Given the description of an element on the screen output the (x, y) to click on. 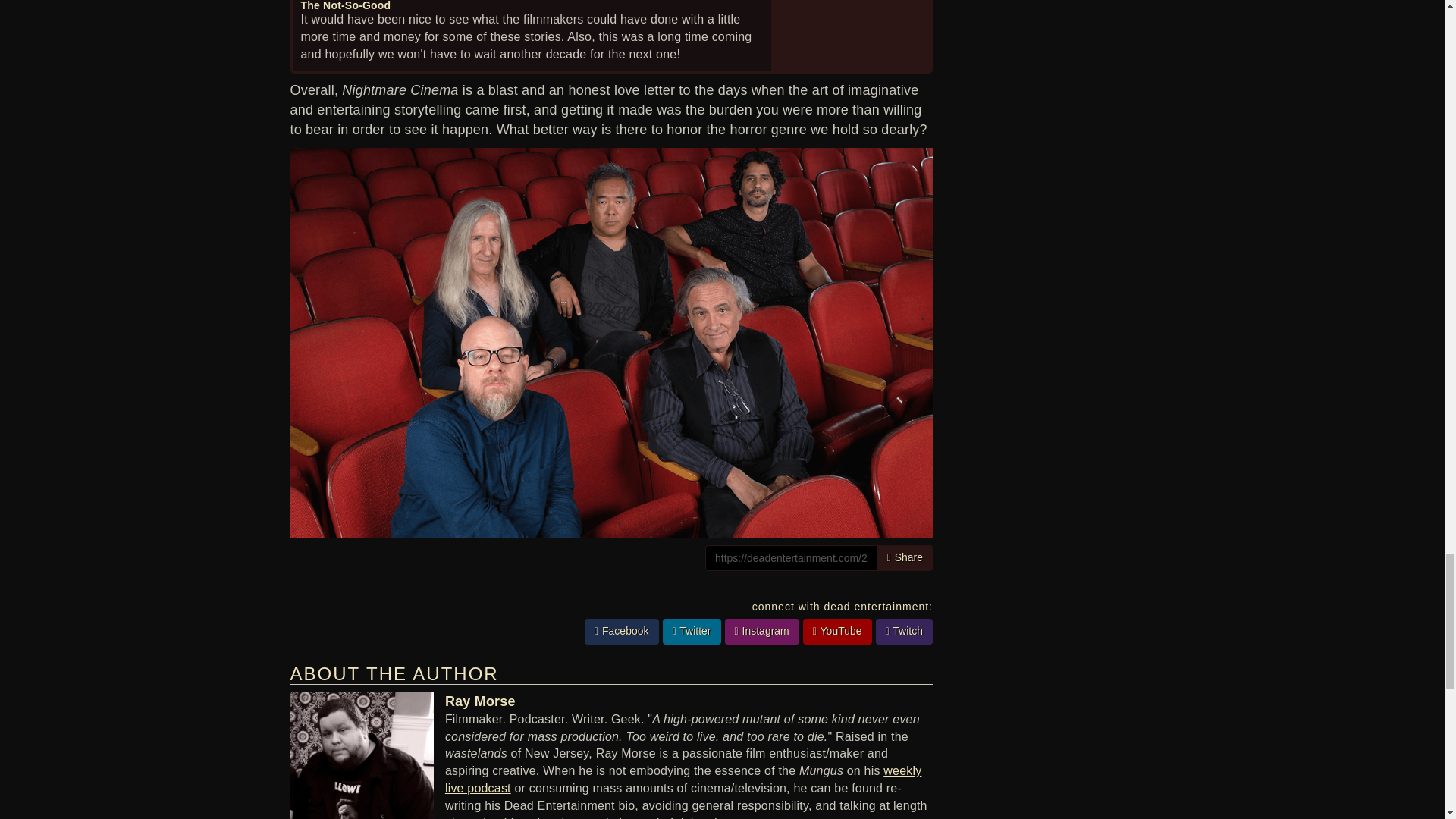
Twitch (904, 631)
Instagram (762, 631)
YouTube (837, 631)
Facebook (622, 631)
weekly live podcast (683, 779)
Twitch (904, 631)
Ray Morse (480, 701)
Instagram (762, 631)
Twitter (691, 631)
Twitter (691, 631)
Share (905, 557)
YouTube (837, 631)
Facebook (622, 631)
